Given the description of an element on the screen output the (x, y) to click on. 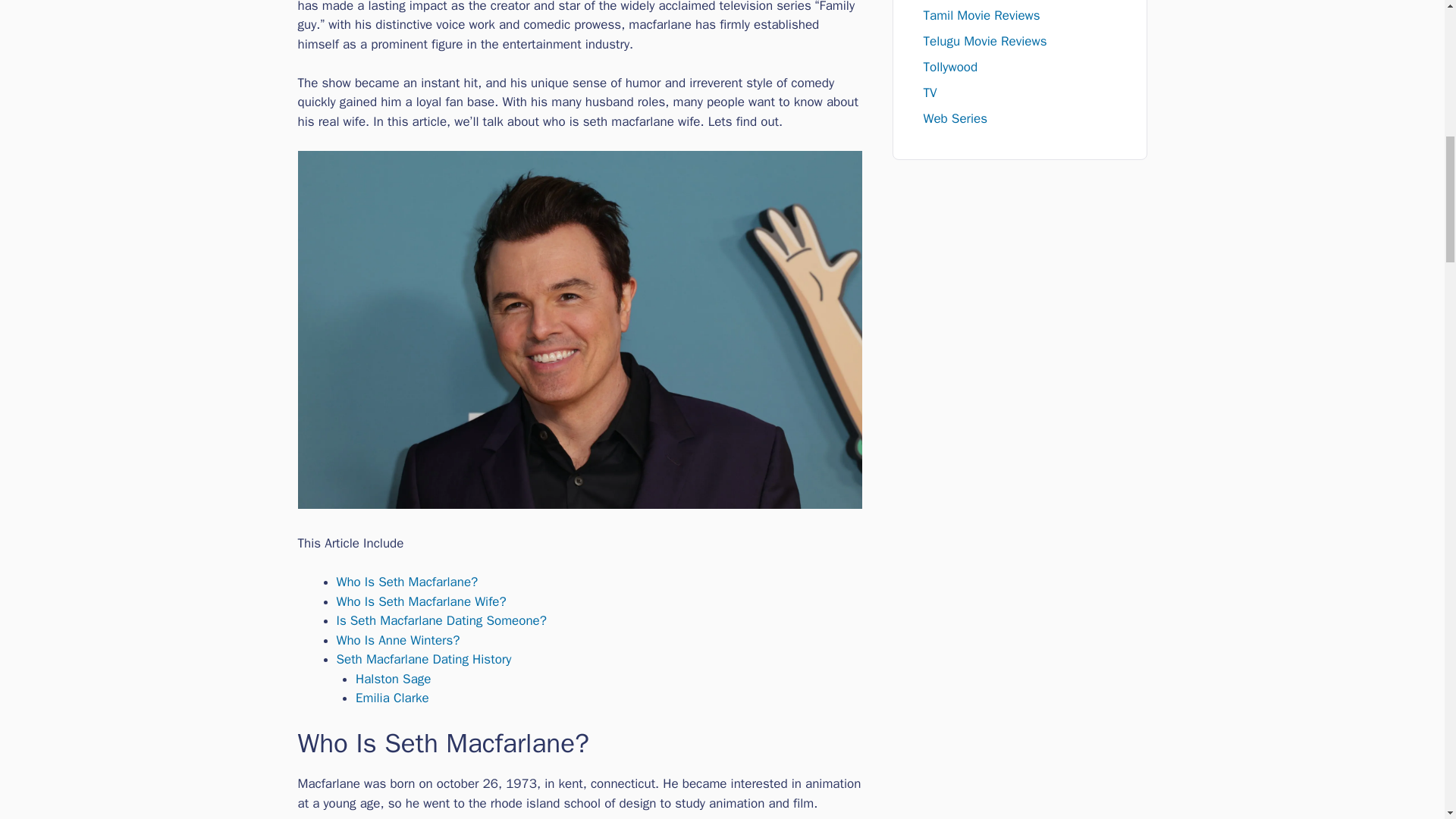
Who Is Anne Winters? (398, 640)
Halston Sage (392, 678)
Seth Macfarlane Dating History (424, 659)
Who Is Seth Macfarlane? (407, 581)
Is Seth Macfarlane Dating Someone? (441, 620)
Who Is Seth Macfarlane Wife? (421, 600)
